Given the description of an element on the screen output the (x, y) to click on. 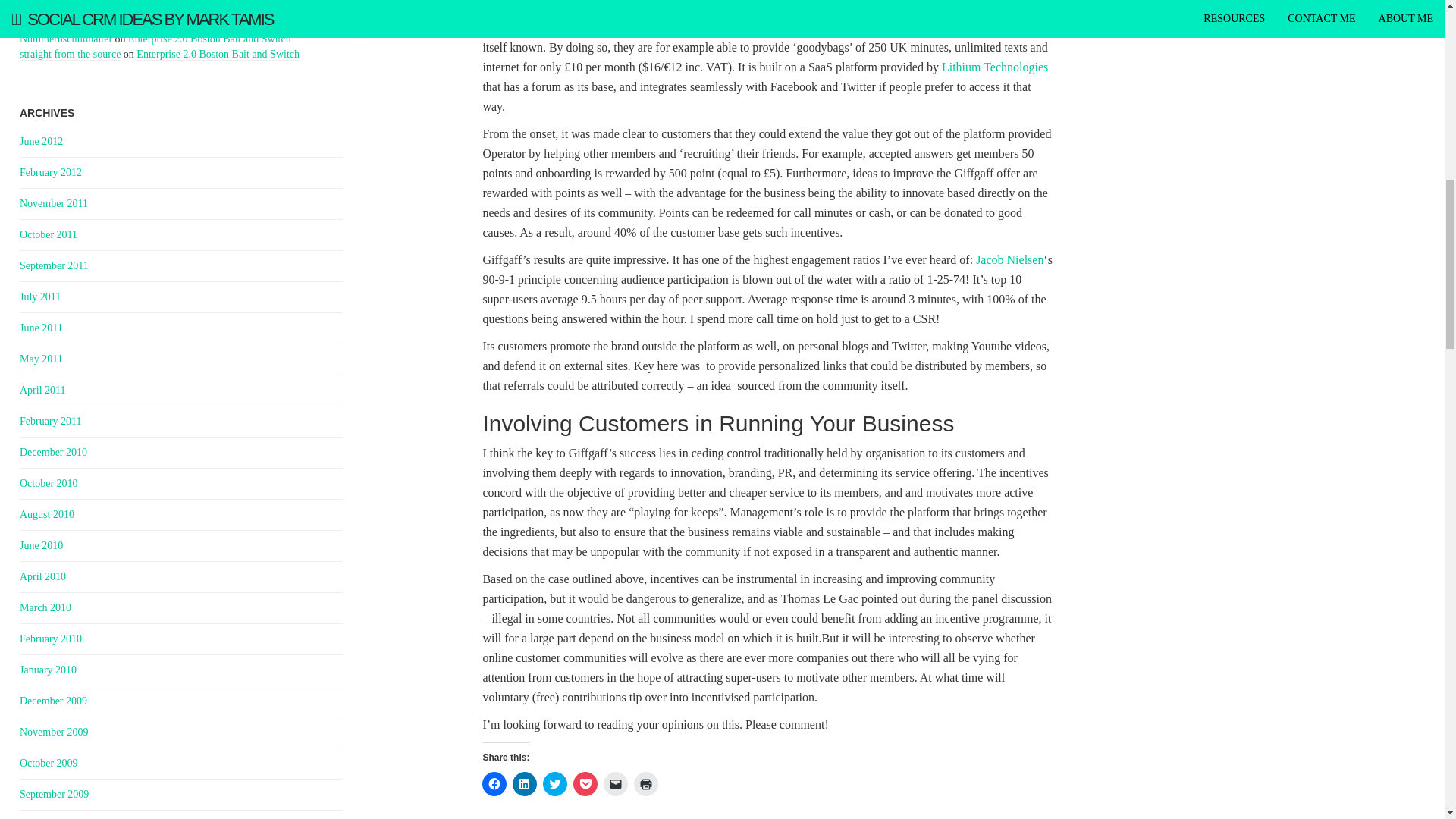
Lithium Technologies (995, 66)
Lithium Technologies (995, 66)
Giffgaff (501, 7)
Giffgaff (501, 7)
Jacob Nielsen (1007, 259)
